Given the description of an element on the screen output the (x, y) to click on. 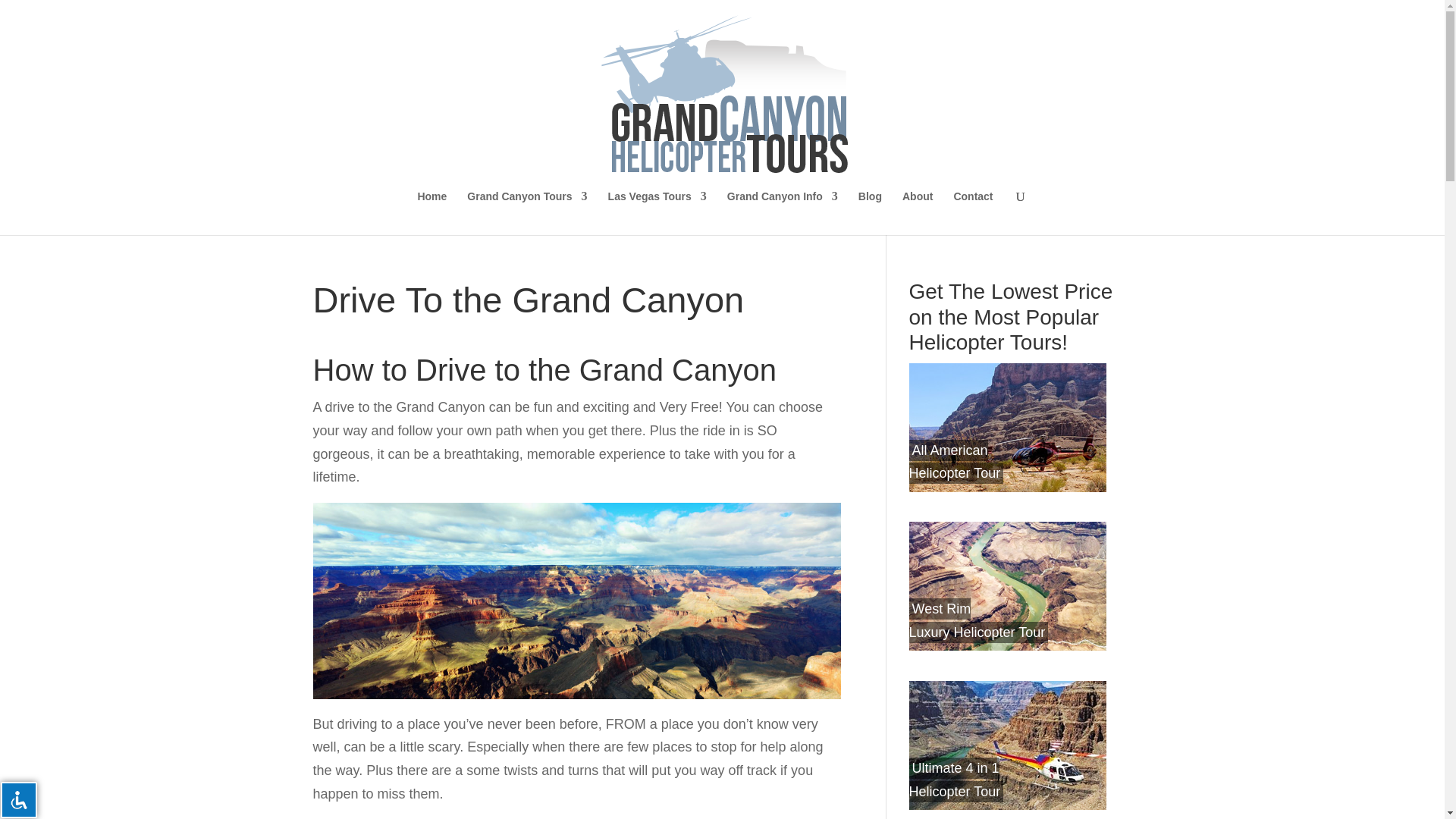
Contact (972, 212)
Grand Canyon Info (782, 212)
Las Vegas Tours (657, 212)
Grand Canyon Tours (526, 212)
